Given the description of an element on the screen output the (x, y) to click on. 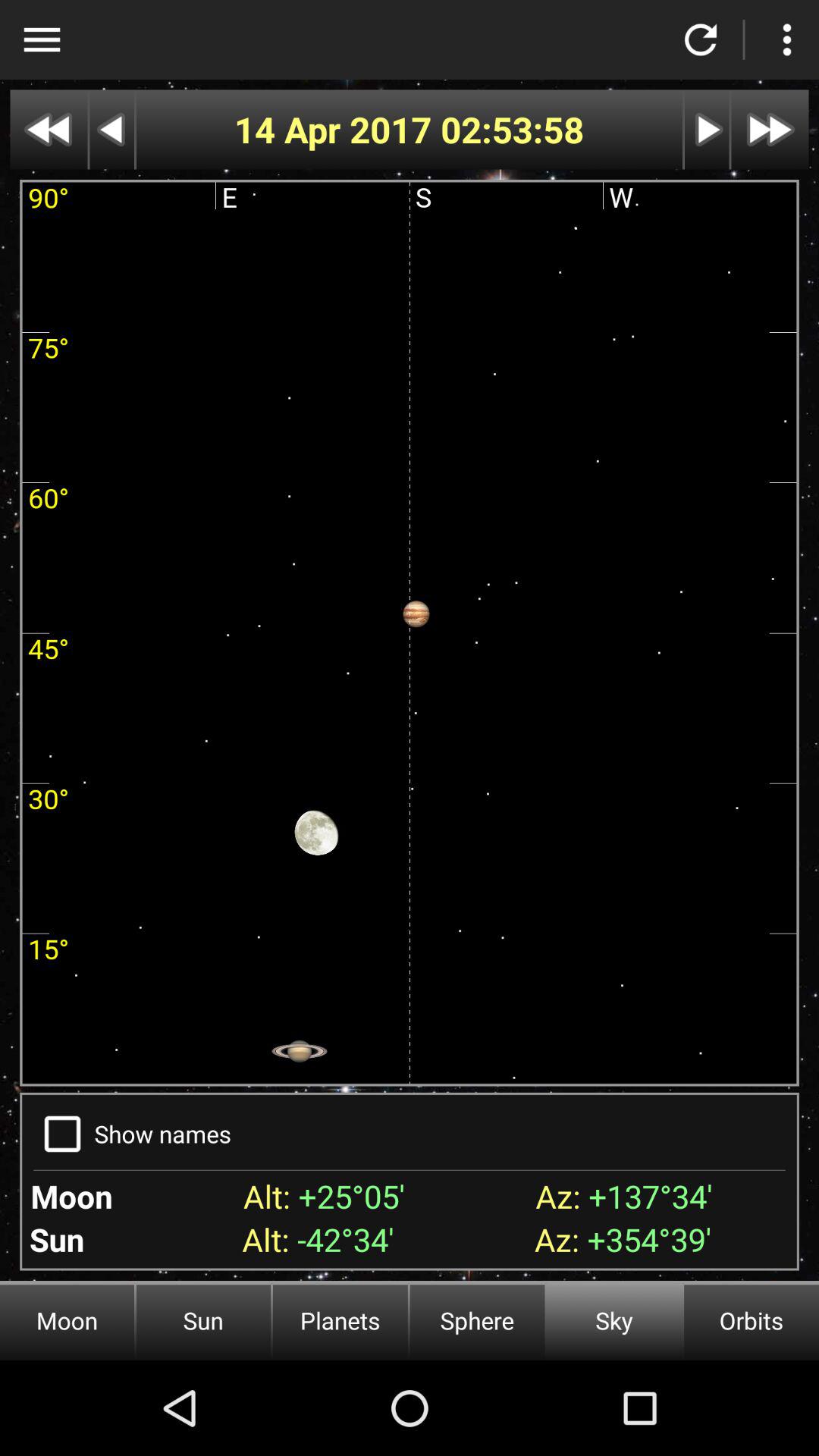
speed up fast rewind (48, 129)
